Given the description of an element on the screen output the (x, y) to click on. 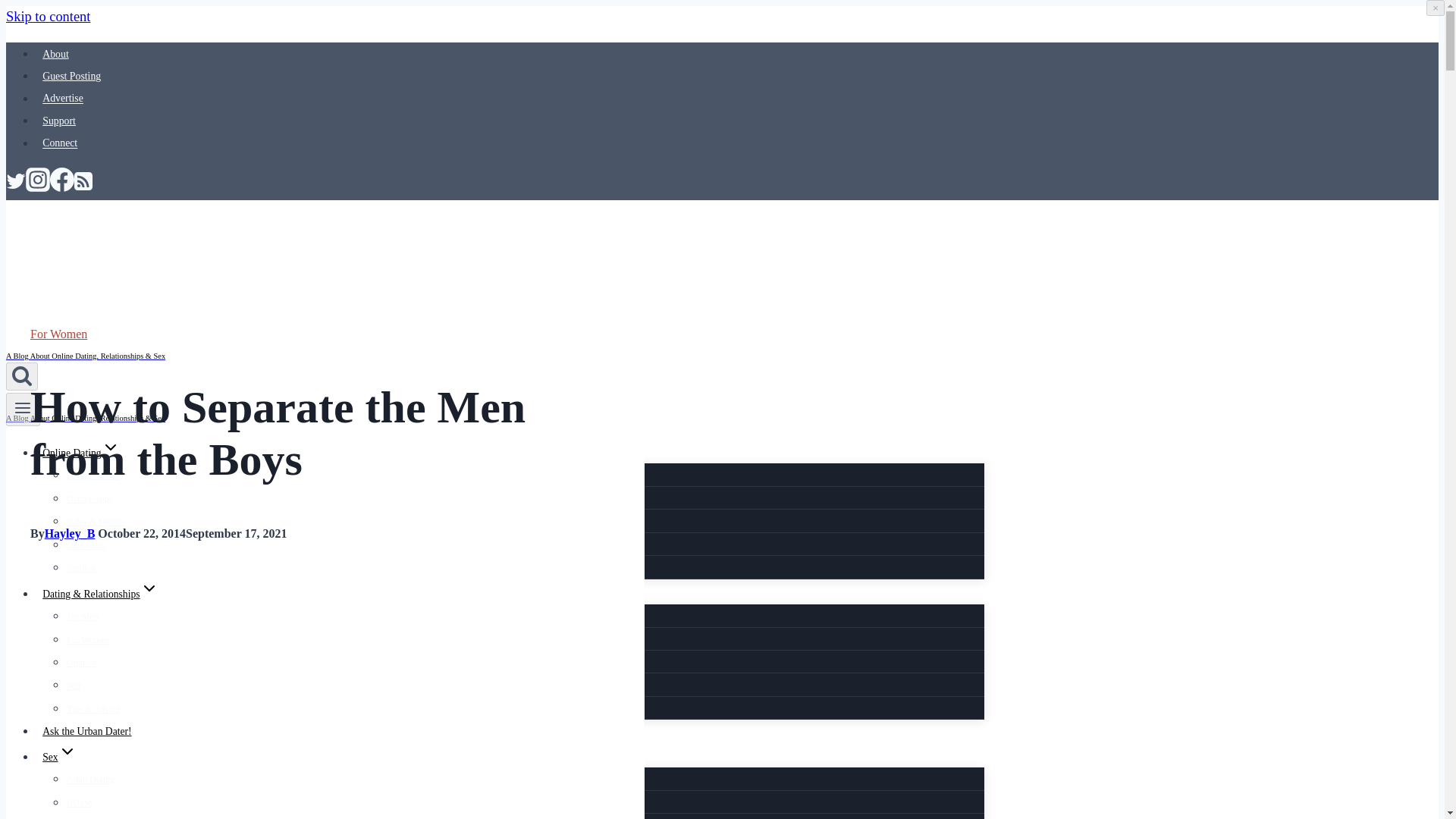
Toggle Menu (22, 409)
Dating Apps (89, 498)
Instagram (37, 186)
Skip to content (47, 16)
About (55, 54)
Expand (148, 588)
Date Ideas (85, 544)
Fashion (81, 567)
For Women (87, 639)
Expand (67, 751)
RSS (83, 186)
Skip to content (47, 16)
BDSM (79, 802)
Twitter (15, 186)
Facebook (61, 186)
